Given the description of an element on the screen output the (x, y) to click on. 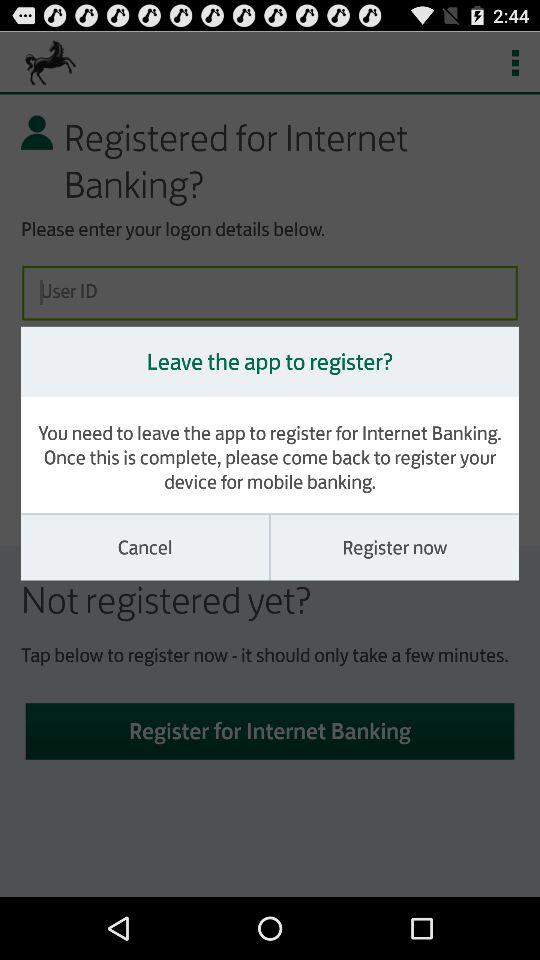
choose the cancel on the left (145, 547)
